Given the description of an element on the screen output the (x, y) to click on. 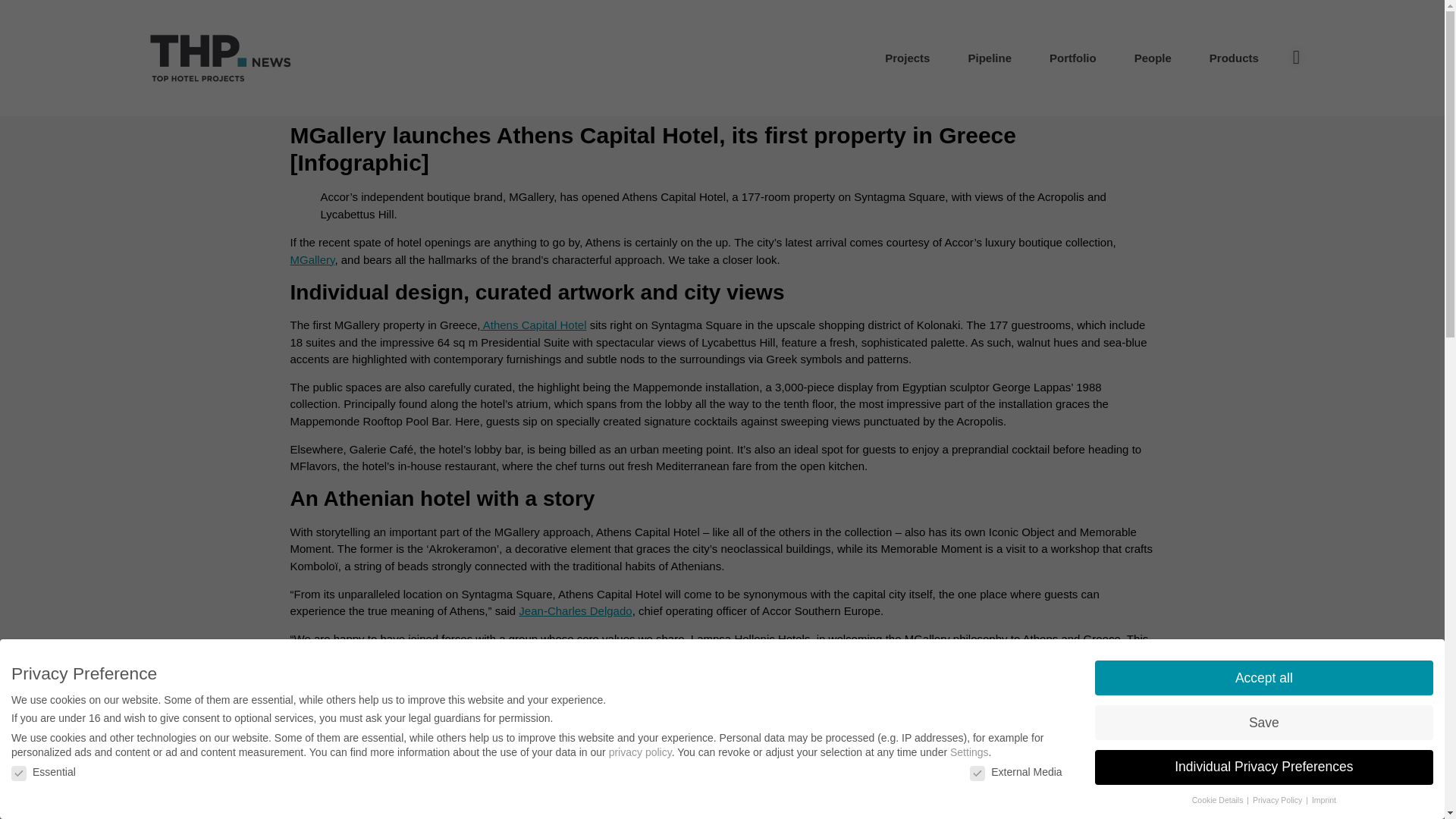
Individual Privacy Preferences (1263, 767)
Products (1234, 58)
People (1153, 58)
Portfolio (1072, 58)
Athens Capital Hotel (533, 324)
Jean-Charles Delgado (574, 610)
Imprint (1323, 799)
Privacy Policy (1278, 799)
Projects (907, 58)
Pipeline (989, 58)
